Given the description of an element on the screen output the (x, y) to click on. 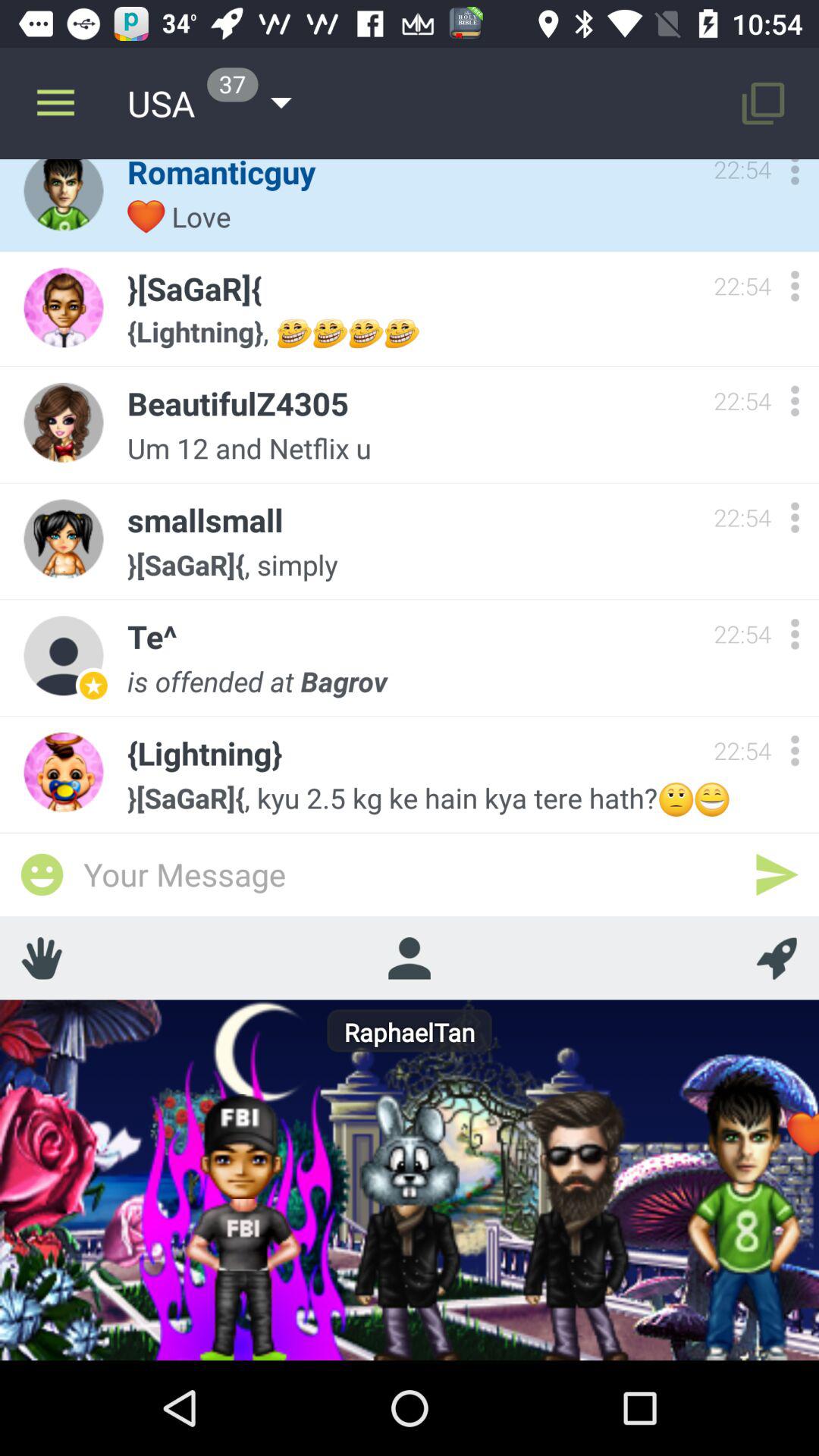
launch icon below sagar kyu 2 item (777, 874)
